Given the description of an element on the screen output the (x, y) to click on. 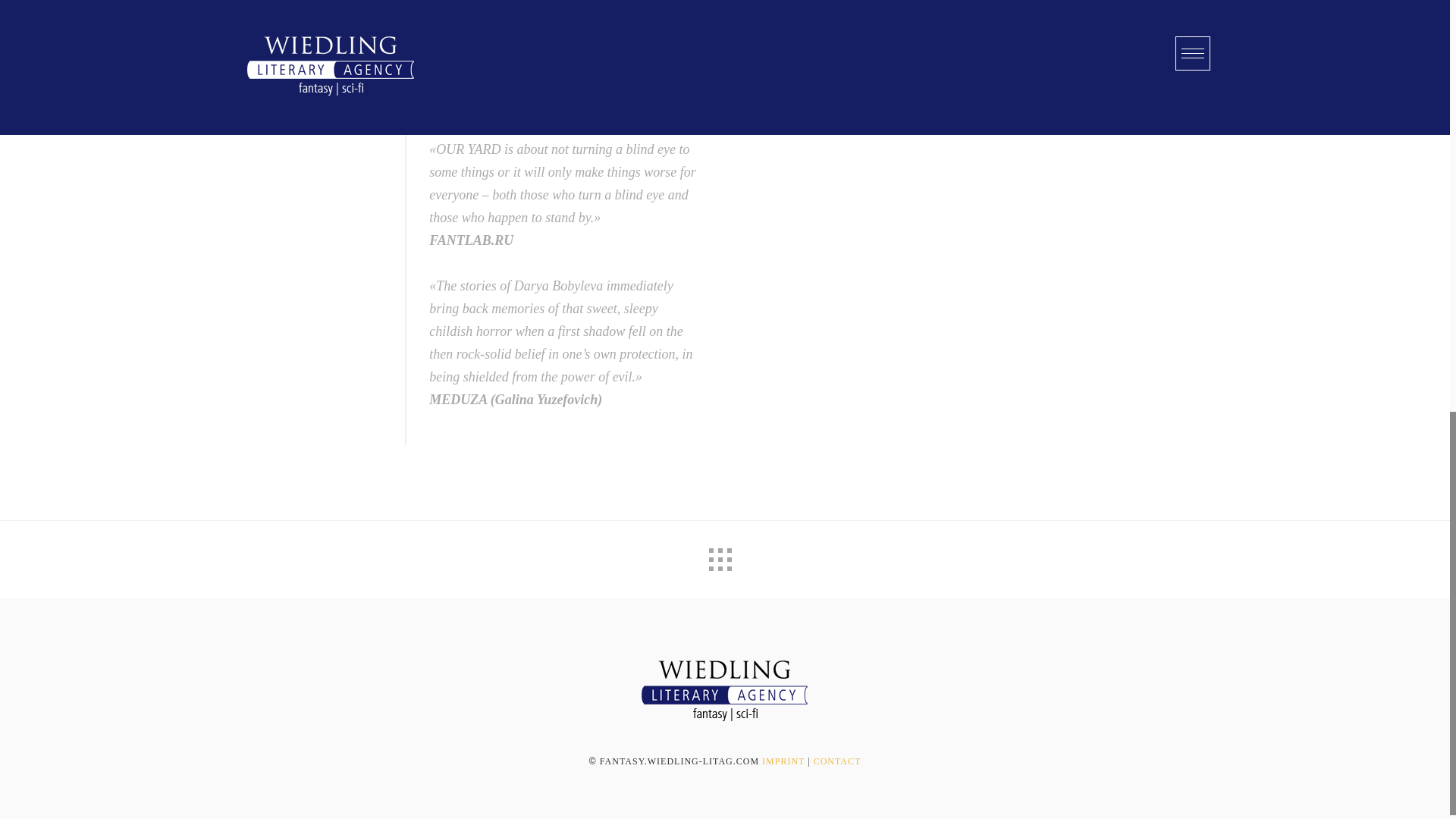
CONTACT (837, 760)
IMPRINT (783, 760)
Sci-fi  (724, 720)
